Given the description of an element on the screen output the (x, y) to click on. 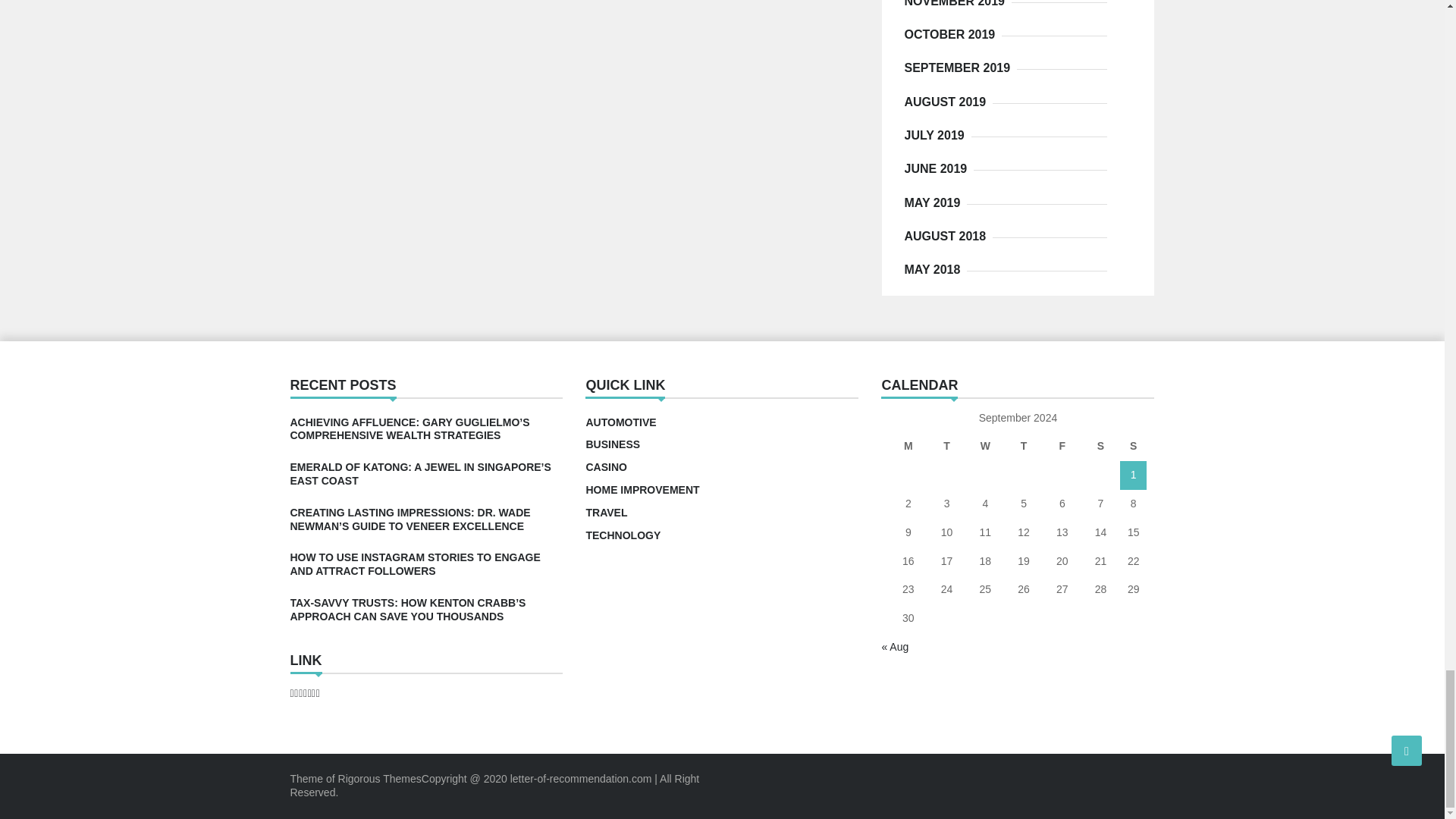
Thursday (1023, 446)
Wednesday (985, 446)
Saturday (1100, 446)
Friday (1061, 446)
Sunday (1133, 446)
Tuesday (946, 446)
Monday (907, 446)
